Given the description of an element on the screen output the (x, y) to click on. 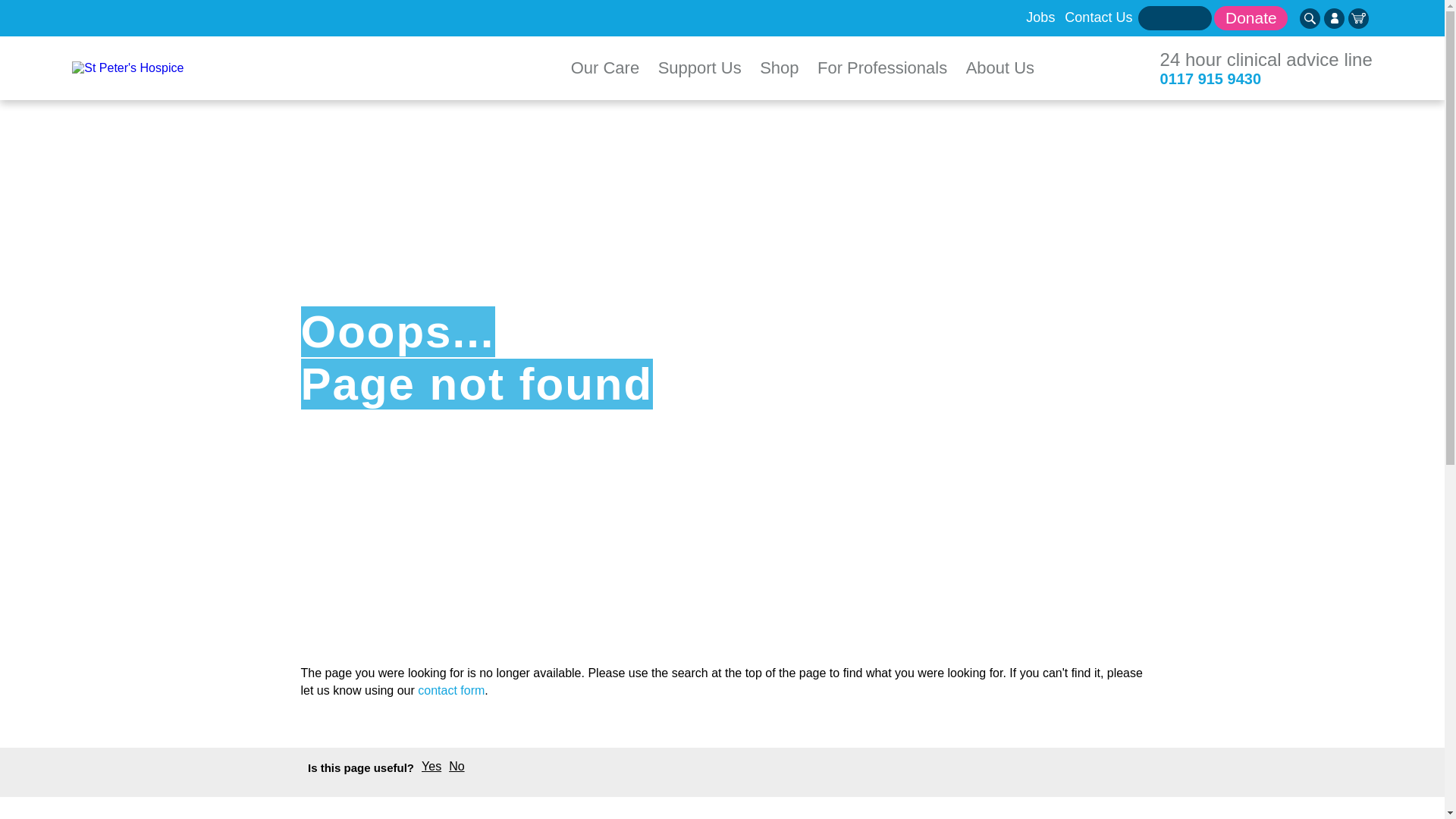
Contact Us (1098, 17)
Donate (1250, 17)
Support Us (699, 66)
Contact Us (450, 689)
Our Care (604, 66)
Jobs (1040, 17)
